Given the description of an element on the screen output the (x, y) to click on. 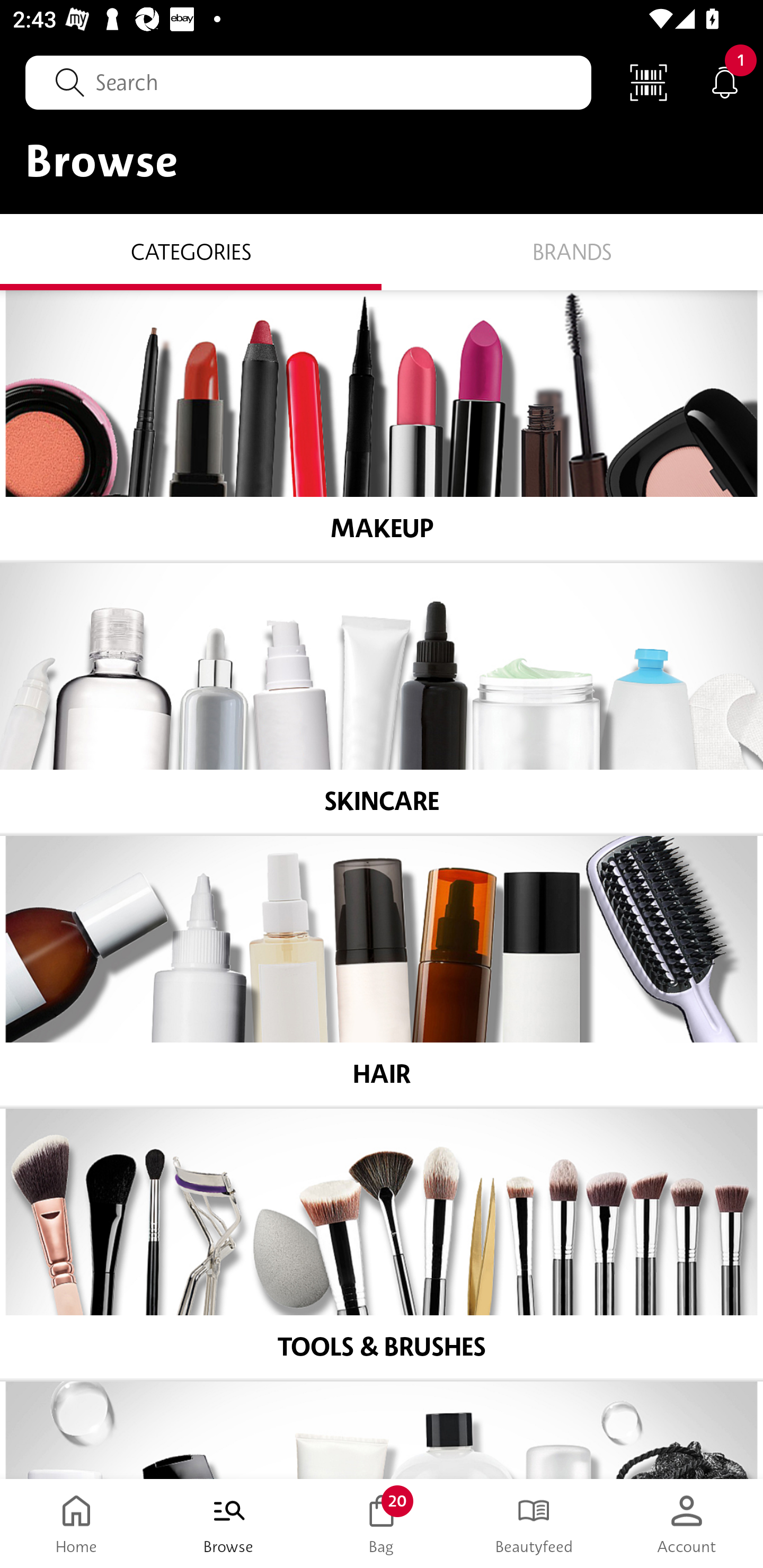
Scan Code (648, 81)
Notifications (724, 81)
Search (308, 81)
Brands BRANDS (572, 251)
MAKEUP (381, 425)
SKINCARE (381, 698)
HAIR (381, 971)
TOOLS & BRUSHES (381, 1243)
Home (76, 1523)
Bag 20 Bag (381, 1523)
Beautyfeed (533, 1523)
Account (686, 1523)
